Given the description of an element on the screen output the (x, y) to click on. 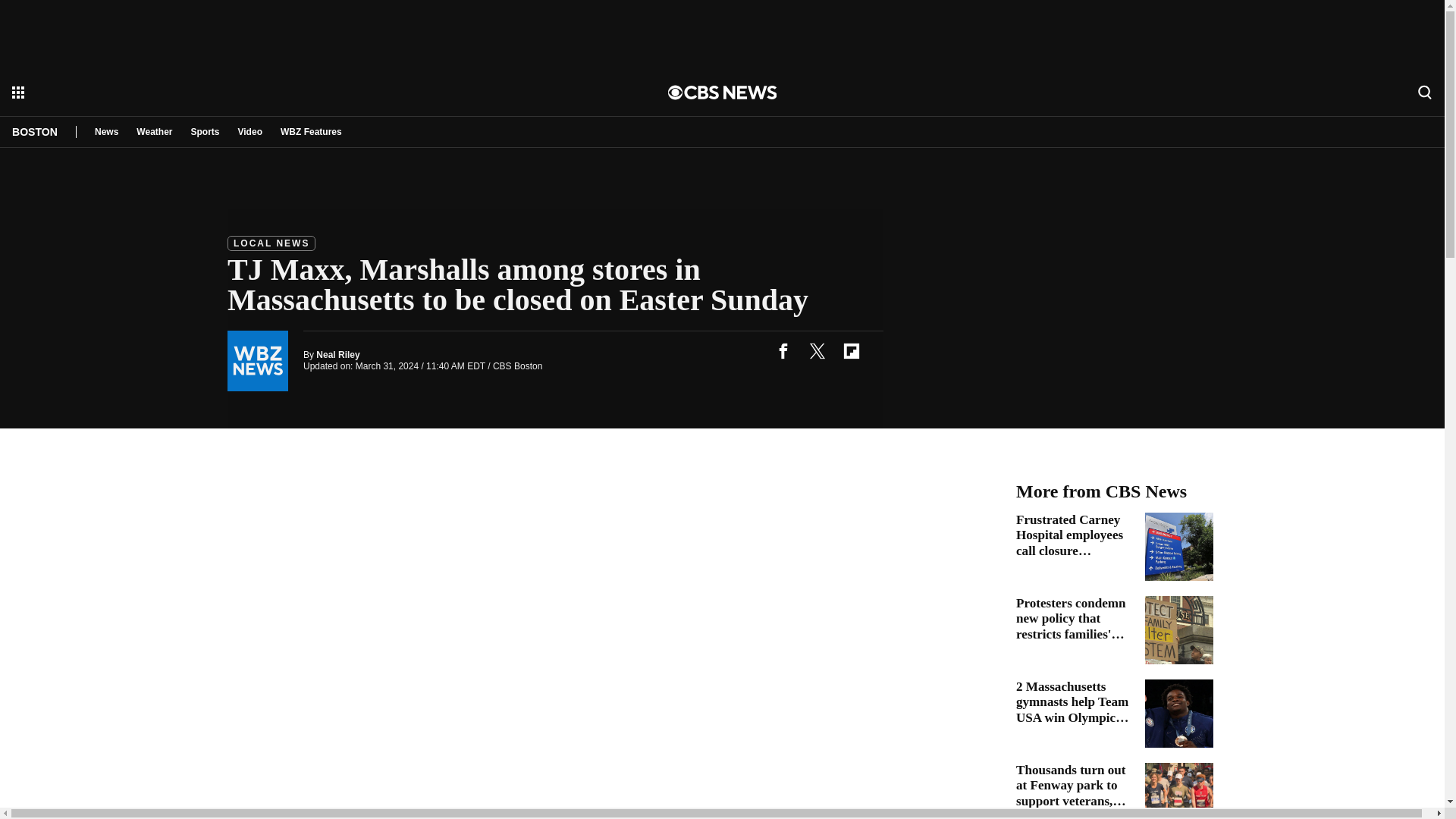
facebook (782, 350)
flipboard (850, 350)
twitter (816, 350)
